Given the description of an element on the screen output the (x, y) to click on. 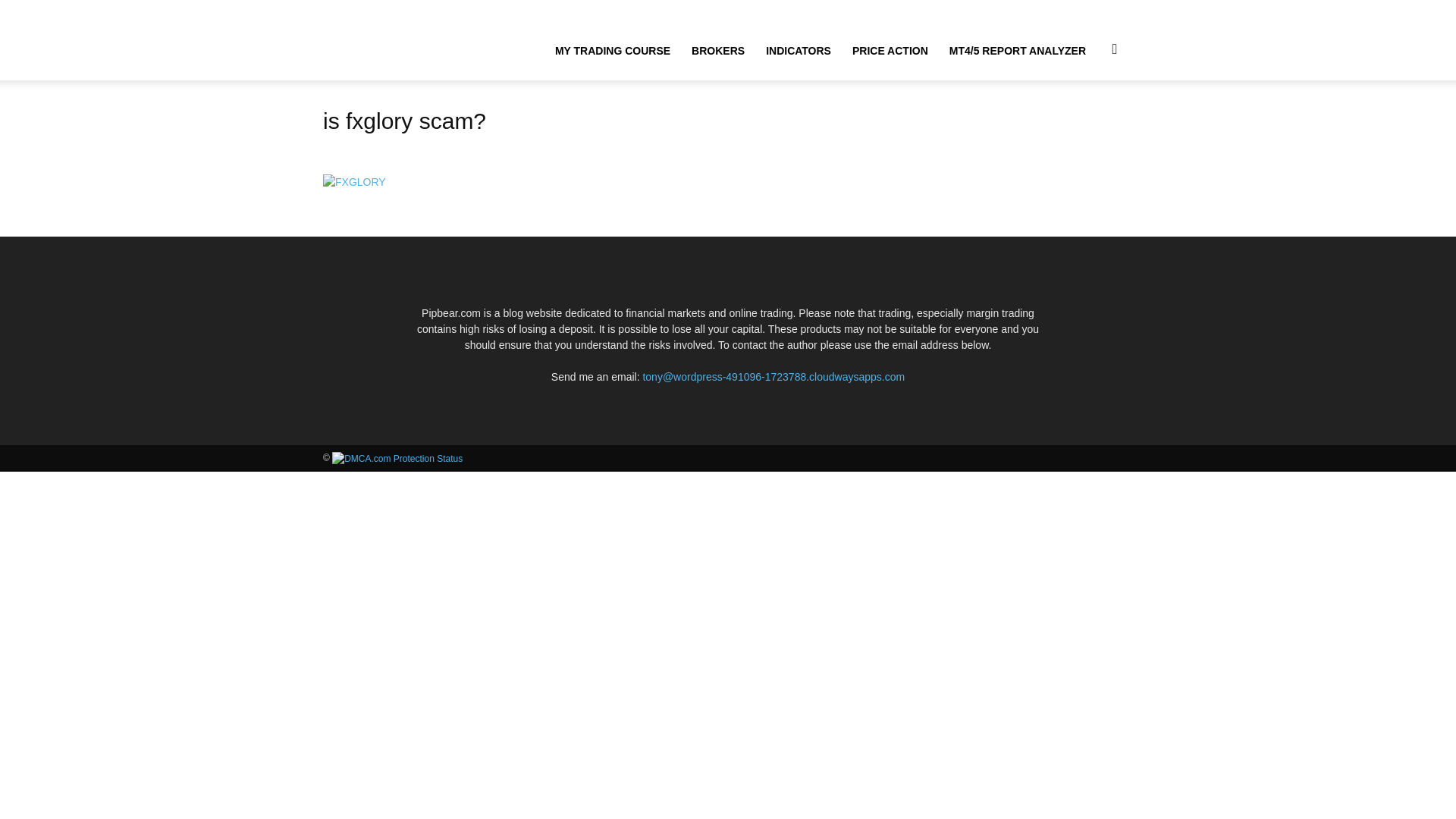
INDICATORS (798, 50)
MY TRADING COURSE (612, 50)
DMCA.com Protection Status (397, 457)
BROKERS (718, 50)
PRICE ACTION (890, 50)
